Given the description of an element on the screen output the (x, y) to click on. 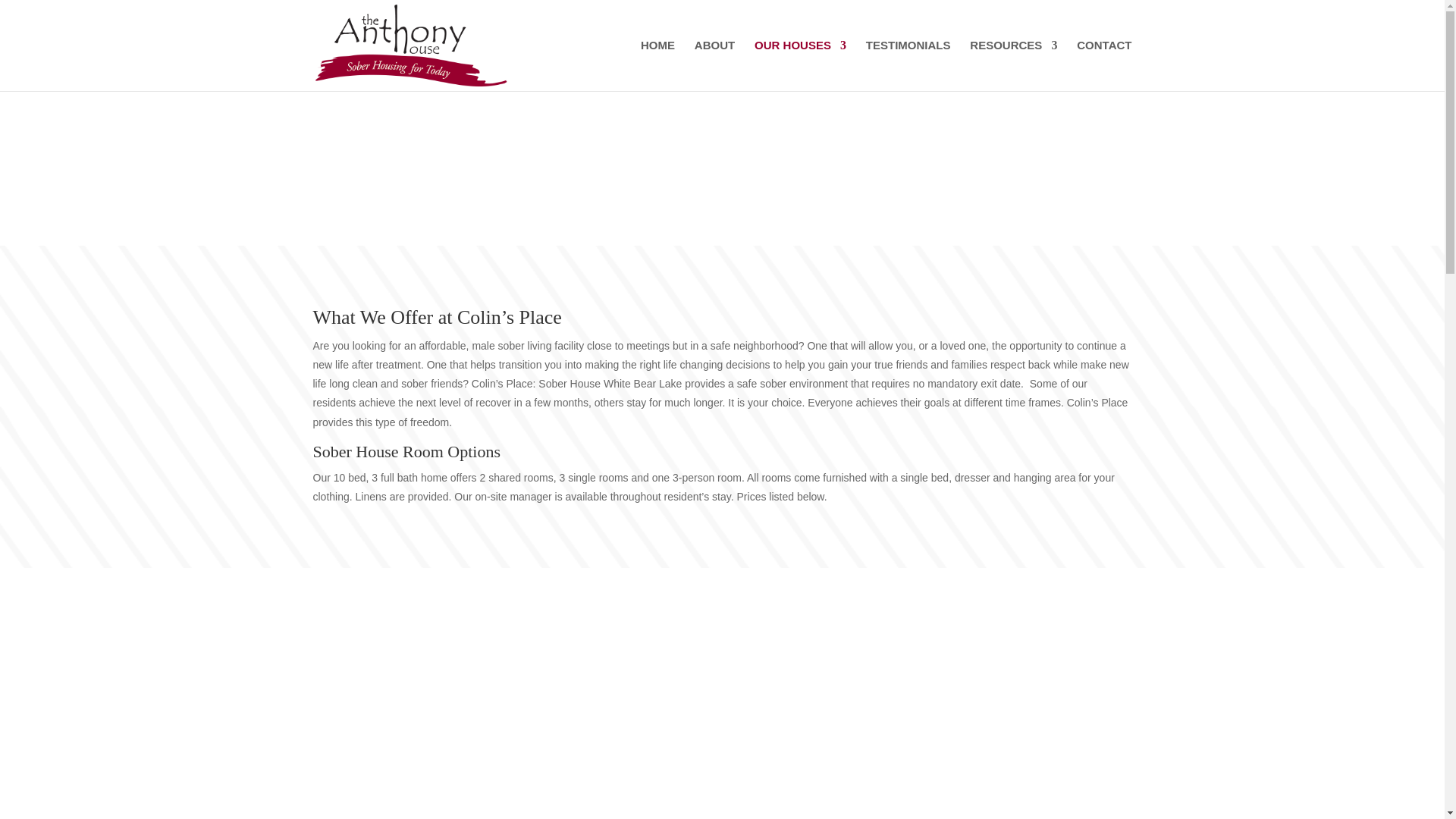
RESOURCES (1013, 65)
TESTIMONIALS (908, 65)
OUR HOUSES (799, 65)
CONTACT (1104, 65)
